Given the description of an element on the screen output the (x, y) to click on. 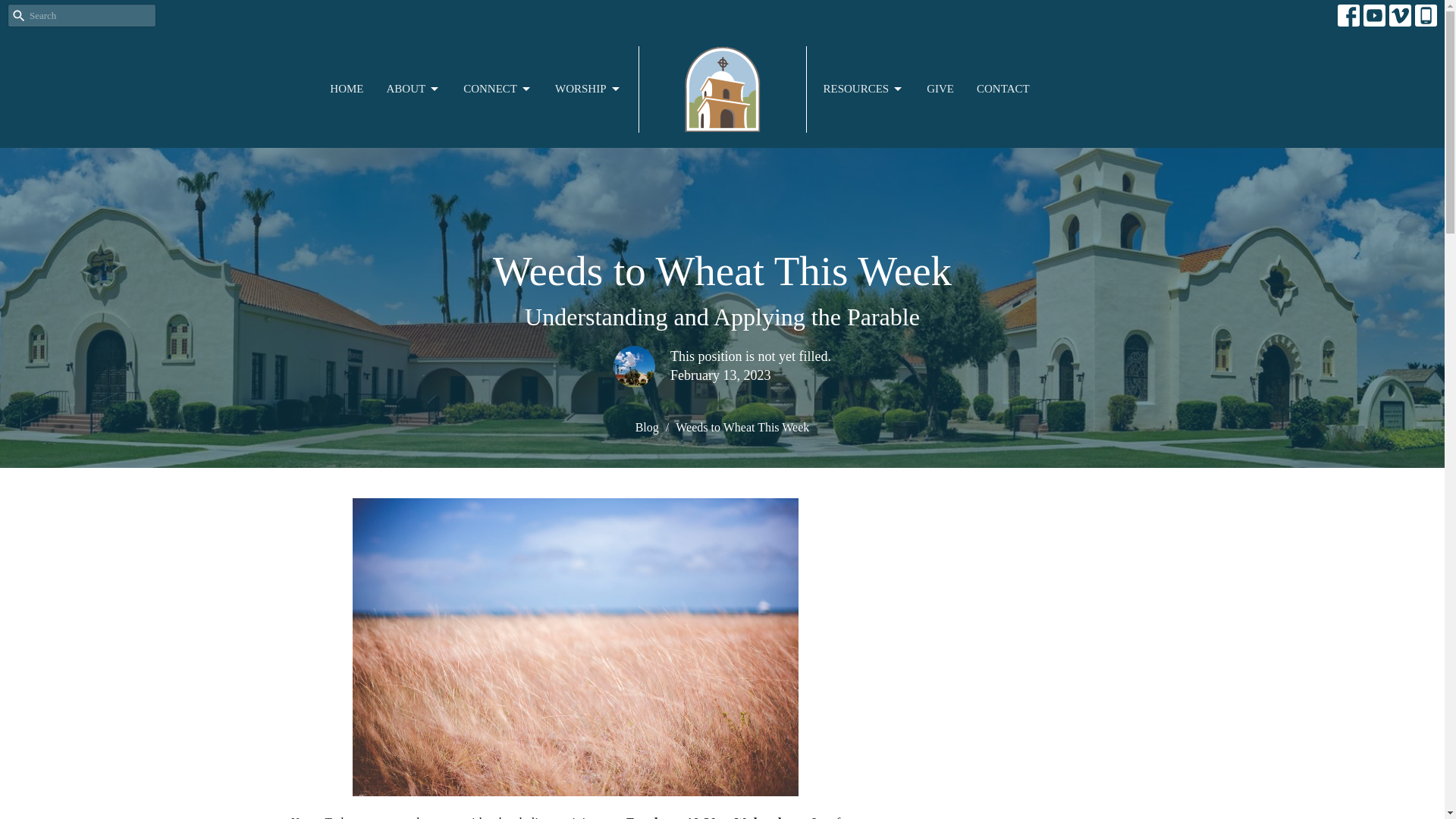
ABOUT (413, 88)
CONTACT (1002, 88)
GIVE (939, 88)
RESOURCES (864, 88)
HOME (346, 88)
WORSHIP (587, 88)
CONNECT (497, 88)
Blog (646, 427)
